Given the description of an element on the screen output the (x, y) to click on. 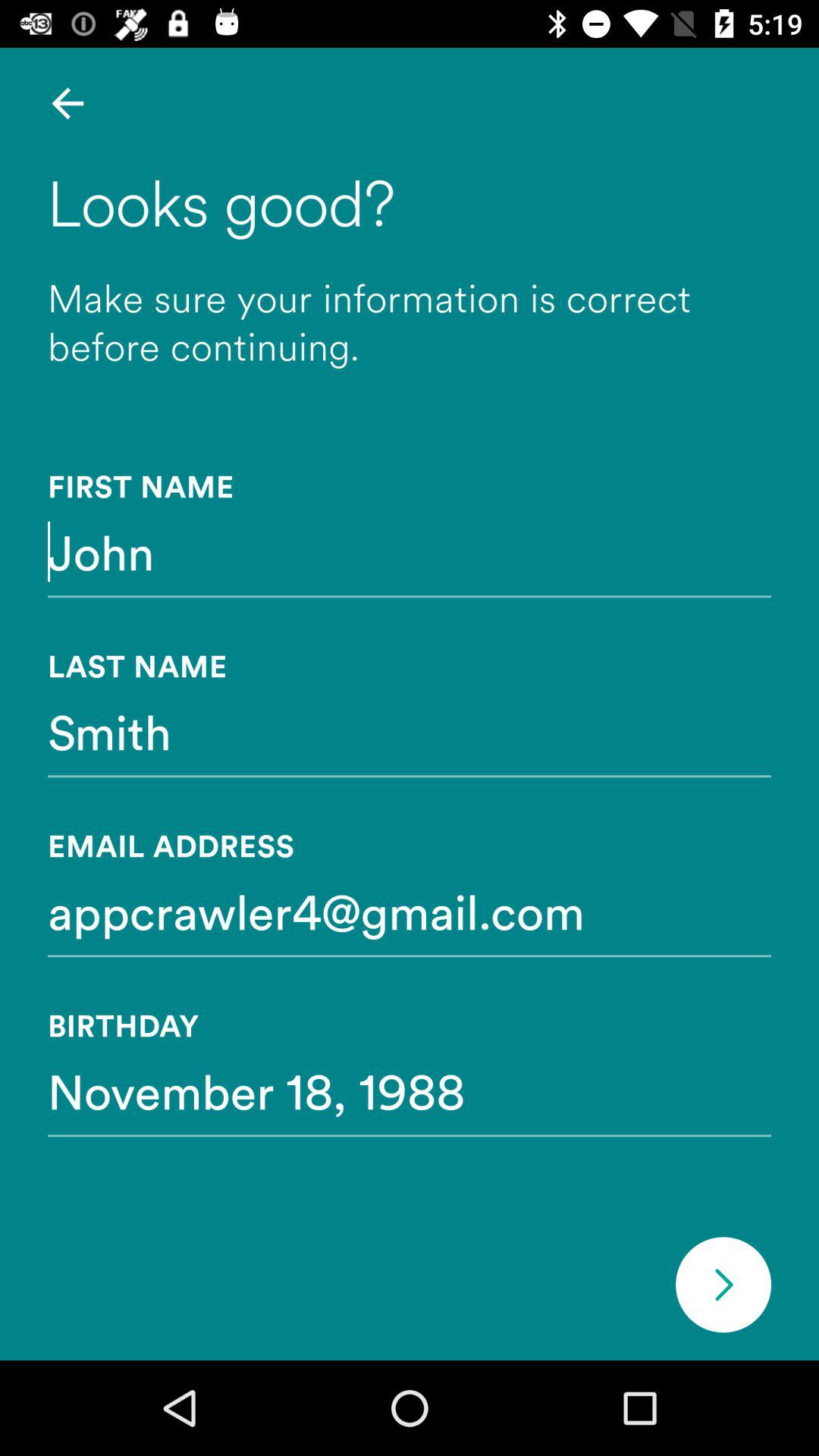
press icon below first name icon (409, 551)
